Given the description of an element on the screen output the (x, y) to click on. 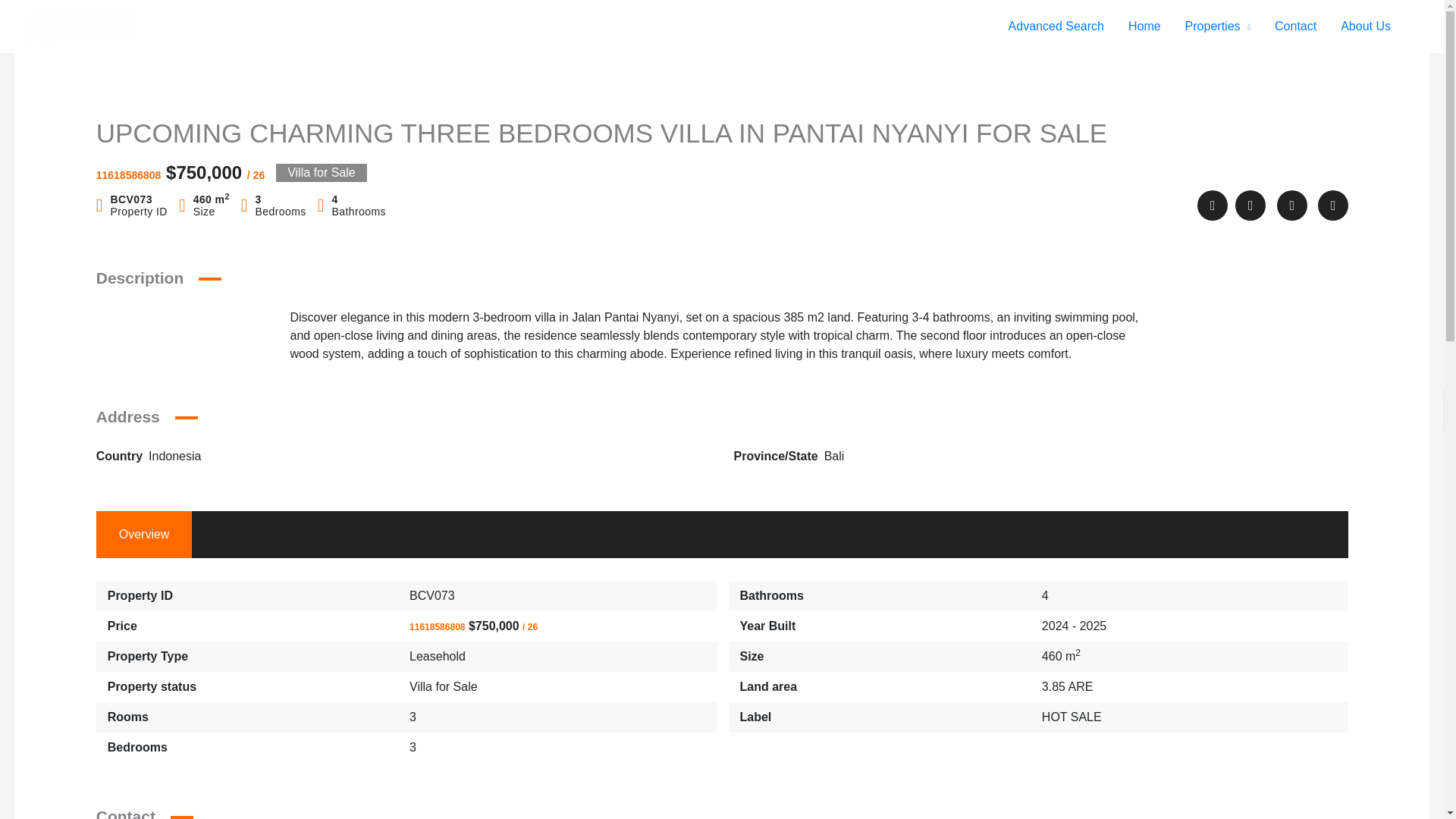
Bali (834, 455)
Contact (1294, 26)
Home (1144, 26)
Overview (144, 534)
About Us (1365, 26)
Leasehold (437, 656)
Advanced Search (1055, 26)
Villa for Sale (443, 686)
Properties (1217, 26)
